Given the description of an element on the screen output the (x, y) to click on. 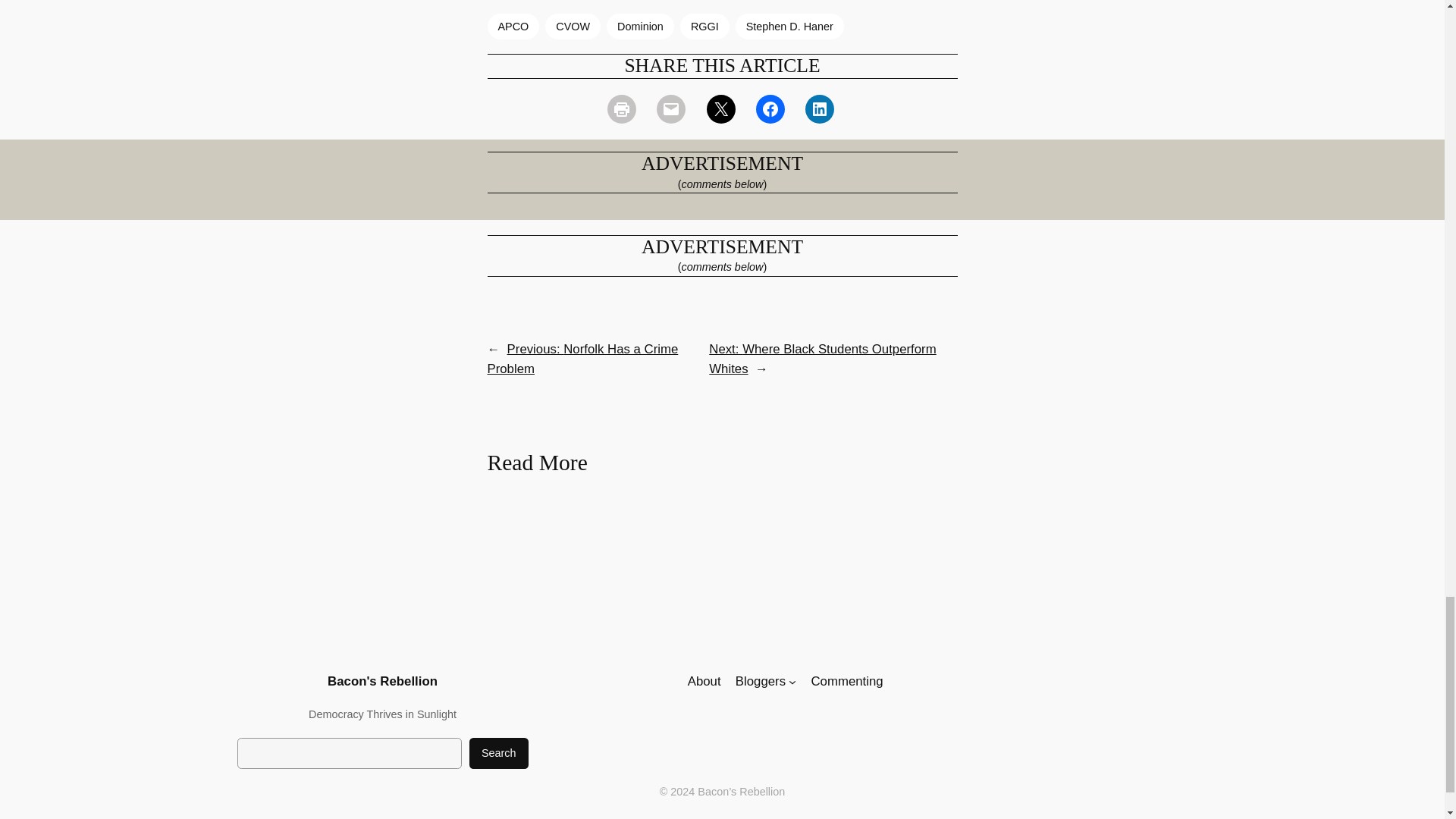
Dominion (640, 26)
CVOW (571, 26)
APCO (512, 26)
RGGI (704, 26)
